Given the description of an element on the screen output the (x, y) to click on. 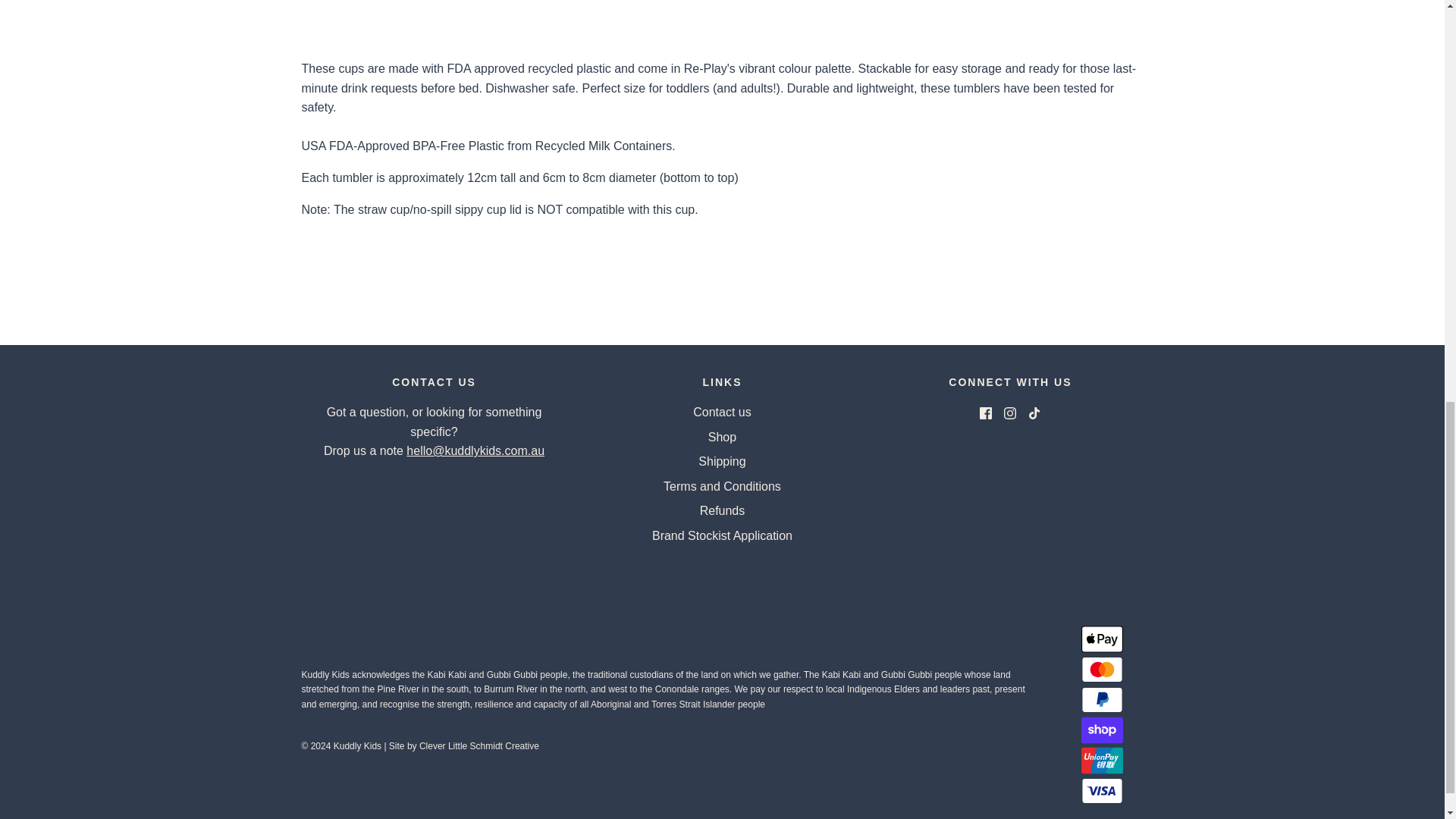
Instagram icon (1010, 413)
Visa (1101, 790)
PayPal (1101, 699)
Facebook icon (985, 413)
TikTok icon (1034, 413)
Email us (475, 450)
Shop Pay (1101, 729)
Union Pay (1101, 760)
Apple Pay (1101, 639)
Mastercard (1101, 669)
